Given the description of an element on the screen output the (x, y) to click on. 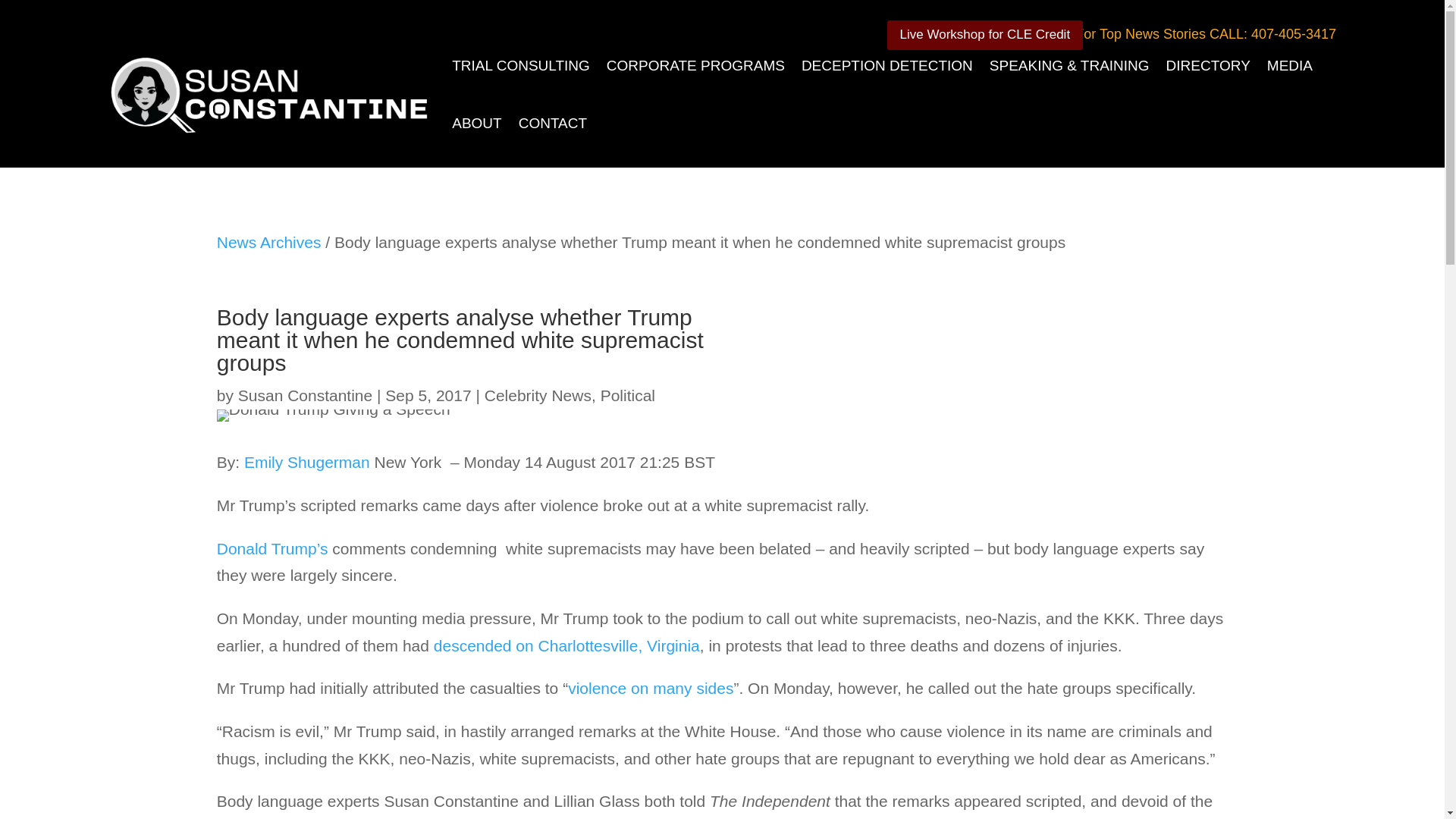
Celebrity News (537, 395)
Political (627, 395)
Live Workshop for CLE Credit (984, 34)
Donald Trump Giving a Speech (332, 415)
CONTACT (552, 123)
Emily Shugerman (306, 461)
Monday 14 August 2017 21:25 BST (588, 461)
TRIAL CONSULTING (520, 65)
DECEPTION DETECTION (887, 65)
descended on Charlottesville, Virginia (566, 645)
